Given the description of an element on the screen output the (x, y) to click on. 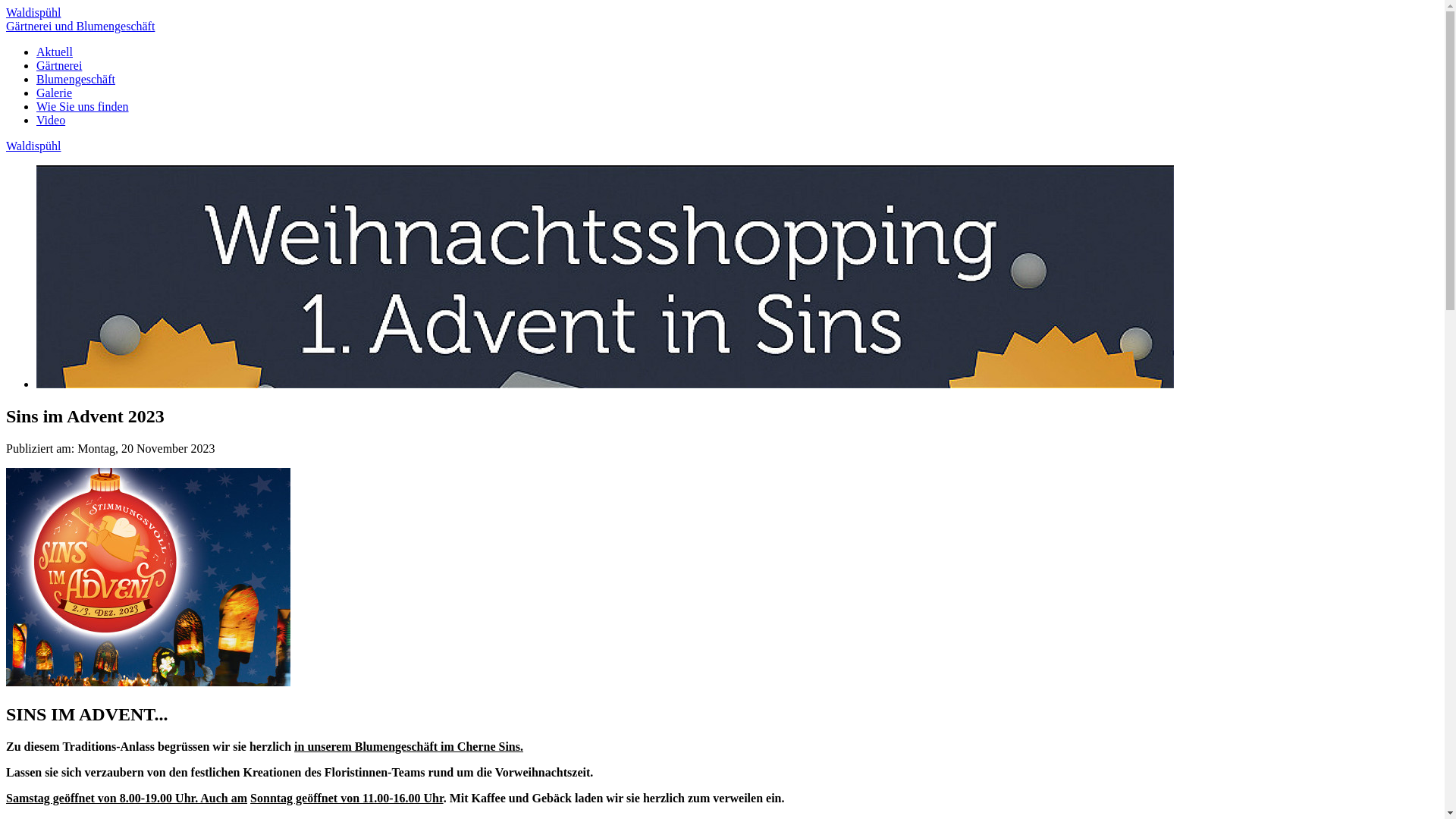
Video Element type: text (50, 119)
Galerie Element type: text (54, 92)
Aktuell Element type: text (54, 51)
Wie Sie uns finden Element type: text (82, 106)
